Given the description of an element on the screen output the (x, y) to click on. 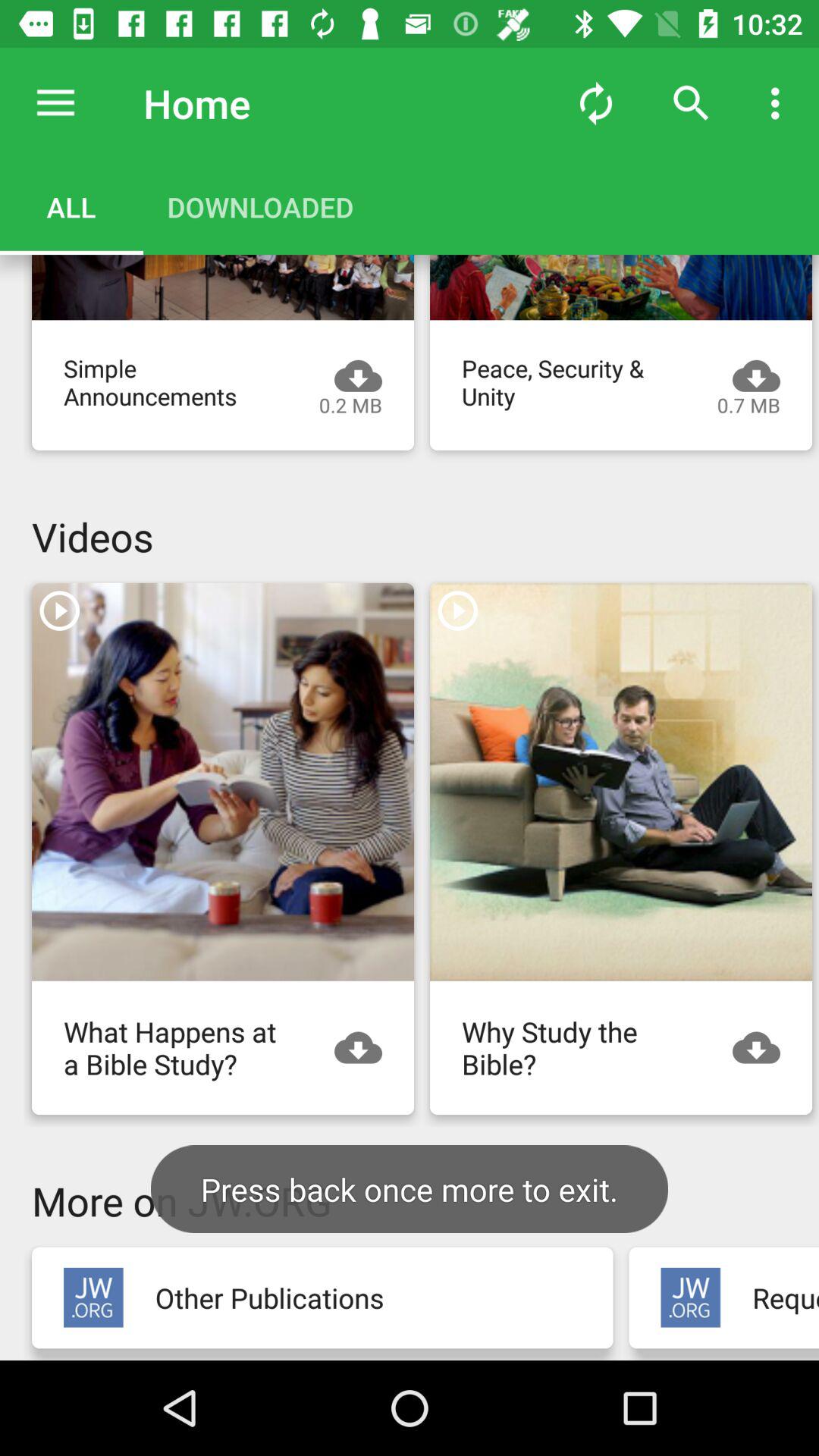
go to lesson (222, 287)
